Given the description of an element on the screen output the (x, y) to click on. 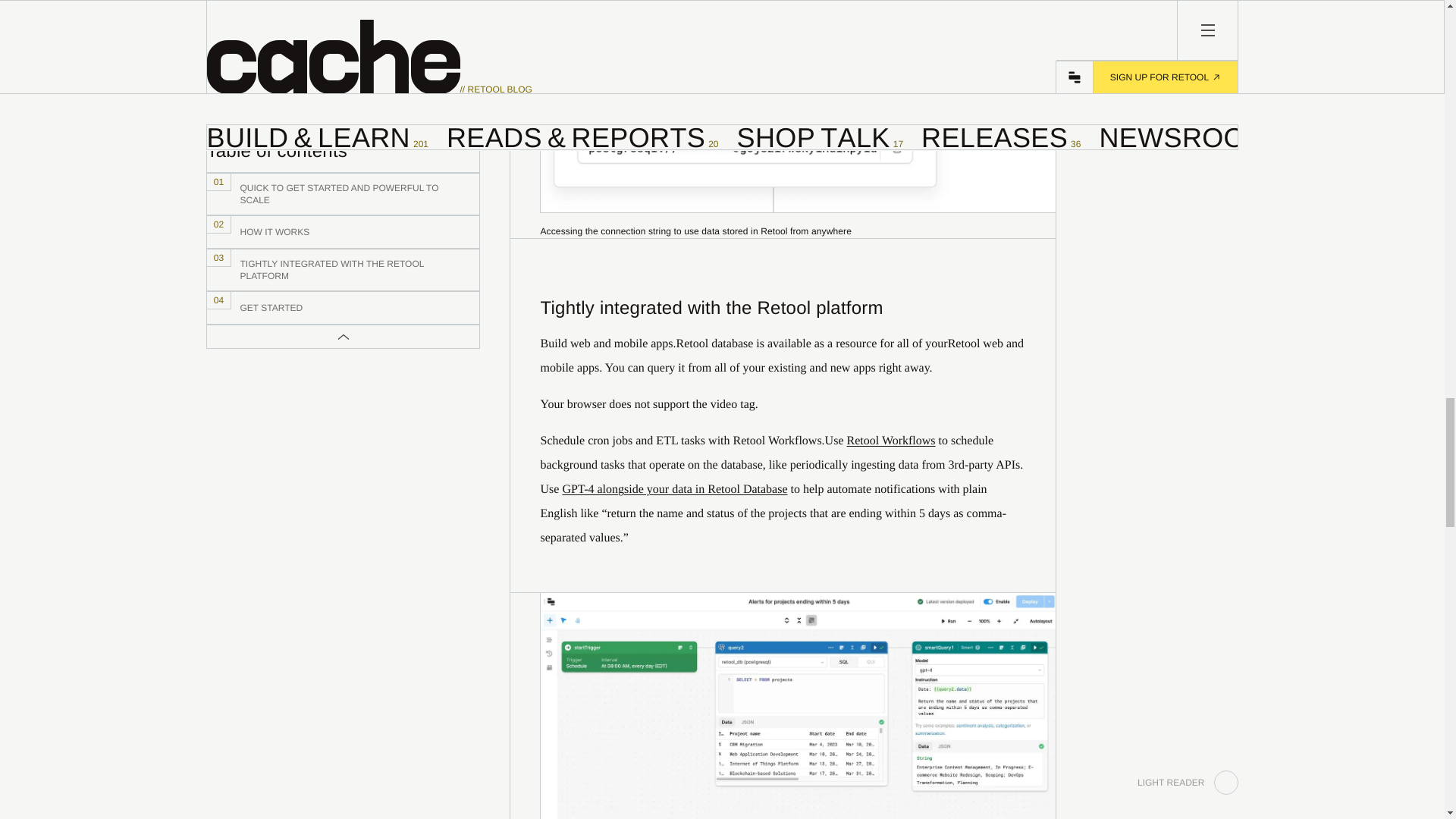
Tightly integrated with the Retool platform (782, 308)
Retool Workflows (889, 440)
GPT-4 alongside your data in Retool Database (674, 489)
Tightly integrated with the Retool platform (782, 299)
